Given the description of an element on the screen output the (x, y) to click on. 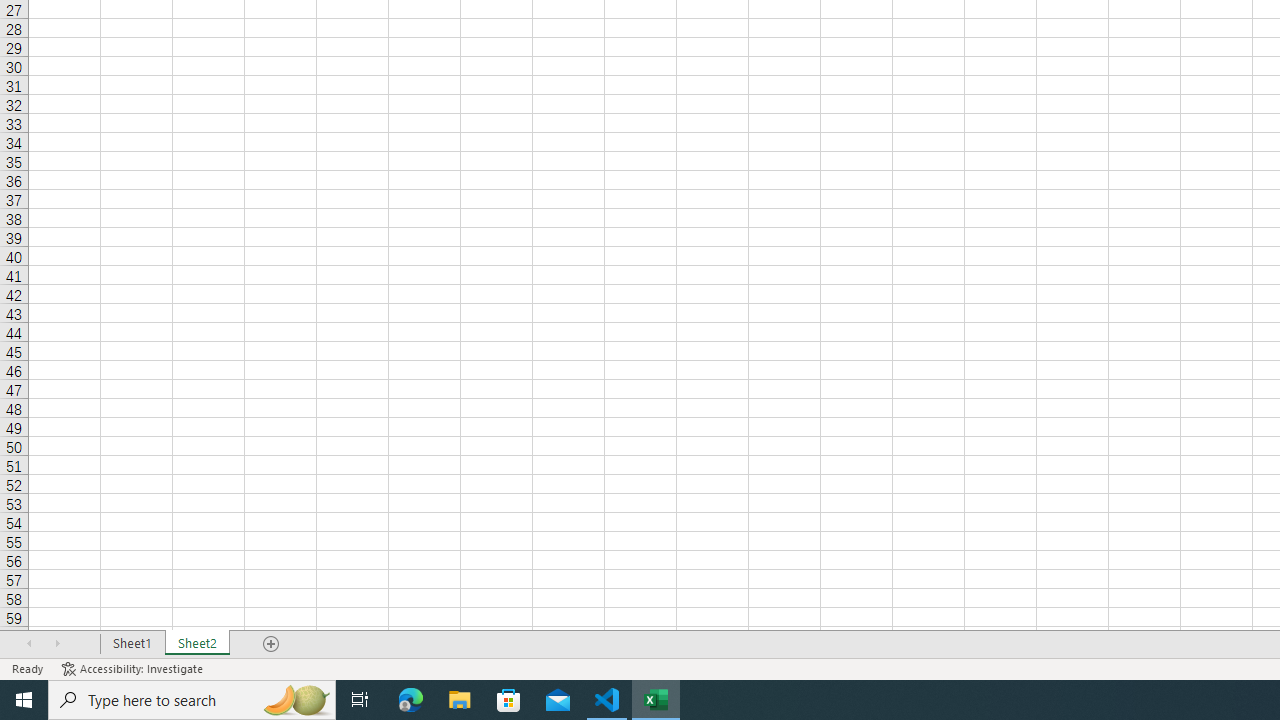
Accessibility Checker Accessibility: Investigate (134, 668)
Sheet2 (197, 644)
